Given the description of an element on the screen output the (x, y) to click on. 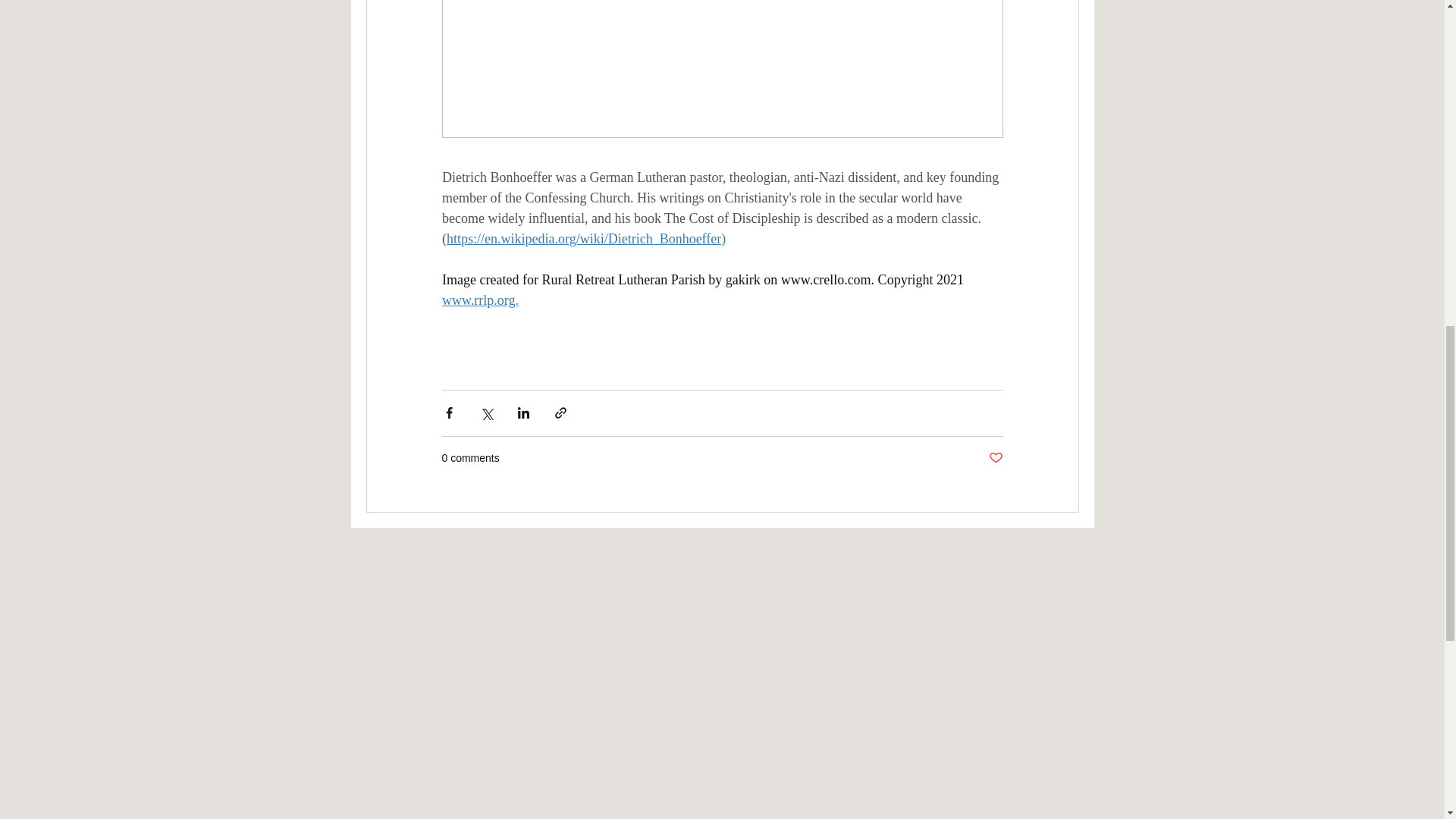
www.rrlp.org. (479, 299)
Post not marked as liked (995, 458)
